Given the description of an element on the screen output the (x, y) to click on. 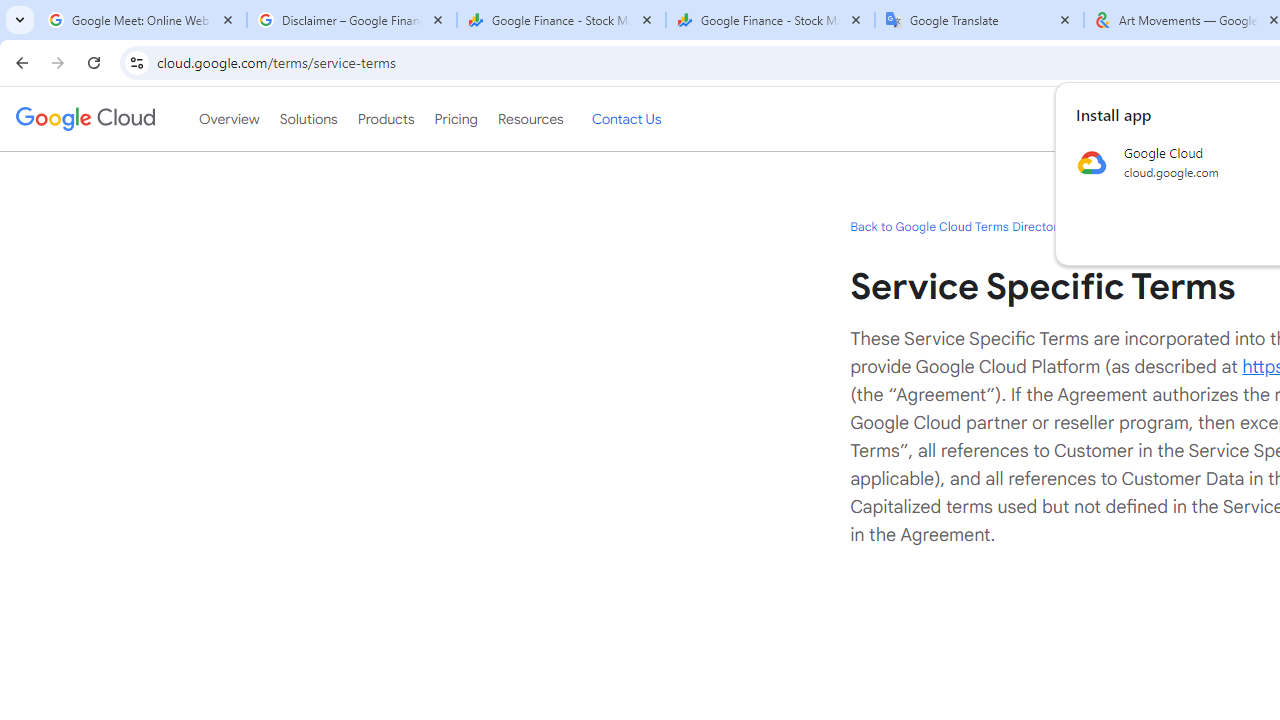
Contact Us (626, 119)
